Given the description of an element on the screen output the (x, y) to click on. 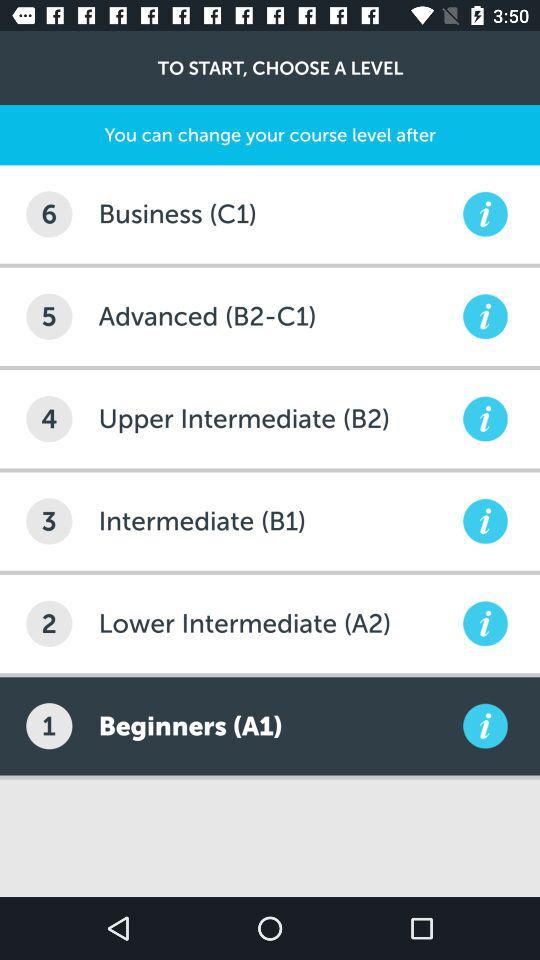
choose item to the right of 3 item (277, 521)
